Given the description of an element on the screen output the (x, y) to click on. 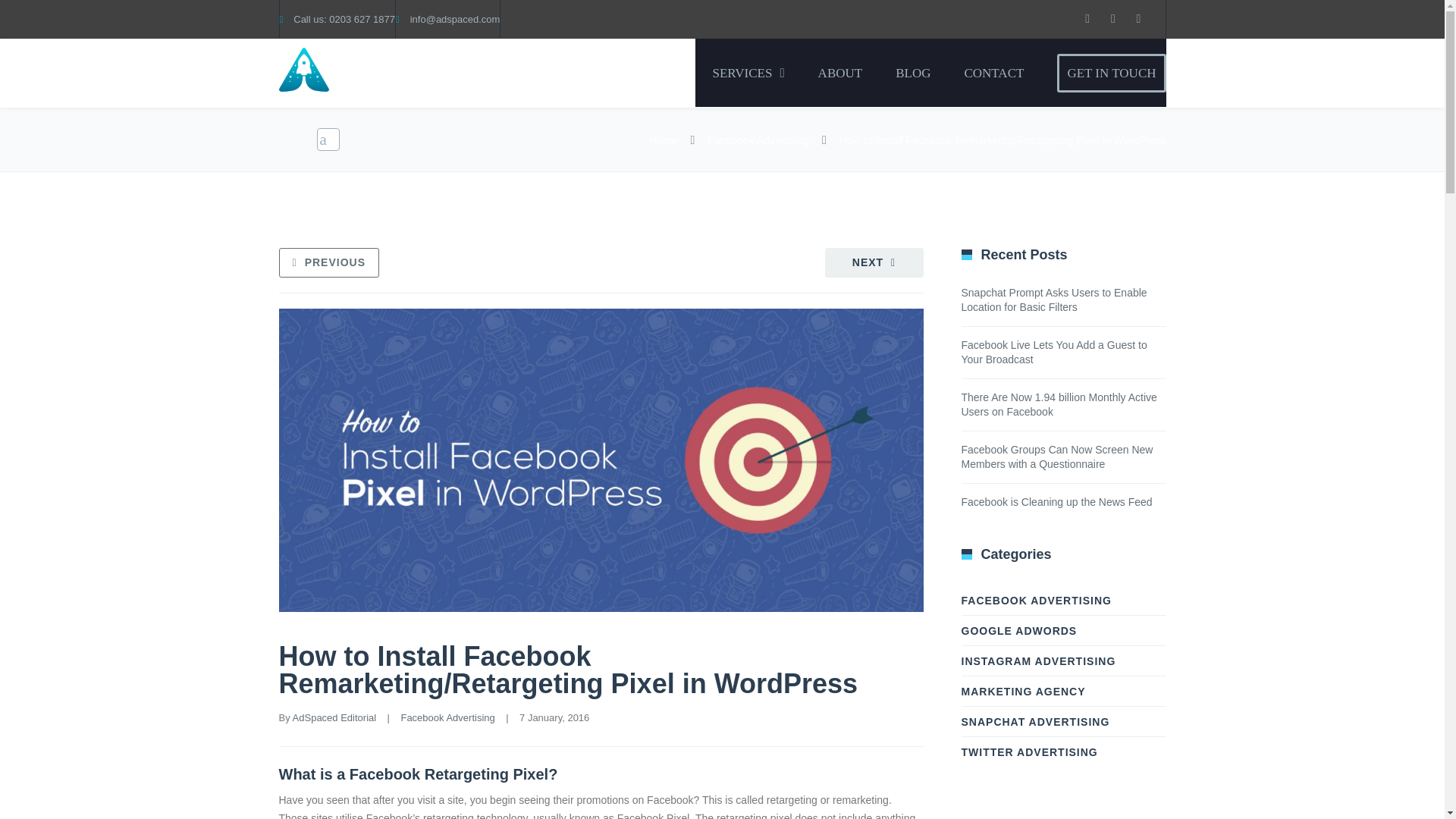
Facebook Advertising (447, 717)
NEXT (874, 262)
AdSpaced Editorial (334, 717)
GET IN TOUCH (1111, 73)
Home (663, 140)
PREVIOUS (328, 262)
AdSpaced (392, 72)
SERVICES (747, 72)
Facebook Advertising (758, 140)
Posts by AdSpaced Editorial (334, 717)
